Given the description of an element on the screen output the (x, y) to click on. 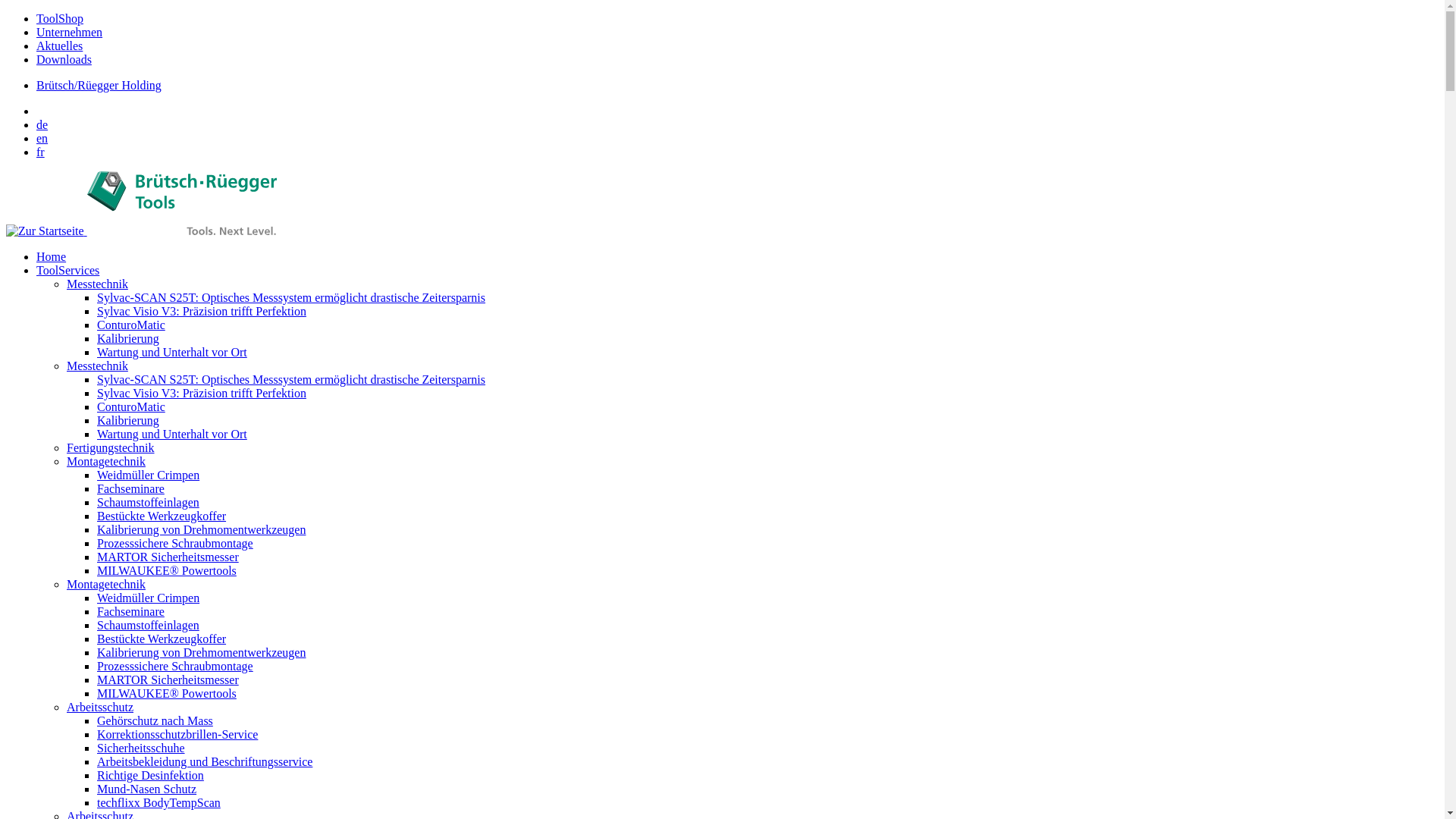
Sicherheitsschuhe Element type: text (141, 747)
Prozesssichere Schraubmontage Element type: text (175, 542)
Korrektionsschutzbrillen-Service Element type: text (177, 734)
ToolShop Element type: text (59, 18)
fr Element type: text (40, 151)
Montagetechnik Element type: text (105, 583)
ToolServices Element type: text (67, 269)
en Element type: text (41, 137)
ConturoMatic Element type: text (131, 406)
Kalibrierung Element type: text (128, 420)
Kalibrierung von Drehmomentwerkzeugen Element type: text (201, 529)
Arbeitsschutz Element type: text (99, 706)
Schaumstoffeinlagen Element type: text (148, 624)
MARTOR Sicherheitsmesser Element type: text (167, 679)
Fachseminare Element type: text (130, 488)
Fertigungstechnik Element type: text (110, 447)
Arbeitsbekleidung und Beschriftungsservice Element type: text (204, 761)
Mund-Nasen Schutz Element type: text (146, 788)
Home Element type: text (50, 256)
Aktuelles Element type: text (59, 45)
Kalibrierung von Drehmomentwerkzeugen Element type: text (201, 652)
Unternehmen Element type: text (69, 31)
Kalibrierung Element type: text (128, 338)
Montagetechnik Element type: text (105, 461)
MARTOR Sicherheitsmesser Element type: text (167, 556)
ConturoMatic Element type: text (131, 324)
de Element type: text (41, 124)
Wartung und Unterhalt vor Ort Element type: text (172, 433)
Richtige Desinfektion Element type: text (150, 774)
Messtechnik Element type: text (97, 283)
techflixx BodyTempScan Element type: text (158, 802)
Schaumstoffeinlagen Element type: text (148, 501)
Messtechnik Element type: text (97, 365)
Wartung und Unterhalt vor Ort Element type: text (172, 351)
Downloads Element type: text (63, 59)
Fachseminare Element type: text (130, 611)
Prozesssichere Schraubmontage Element type: text (175, 665)
